Given the description of an element on the screen output the (x, y) to click on. 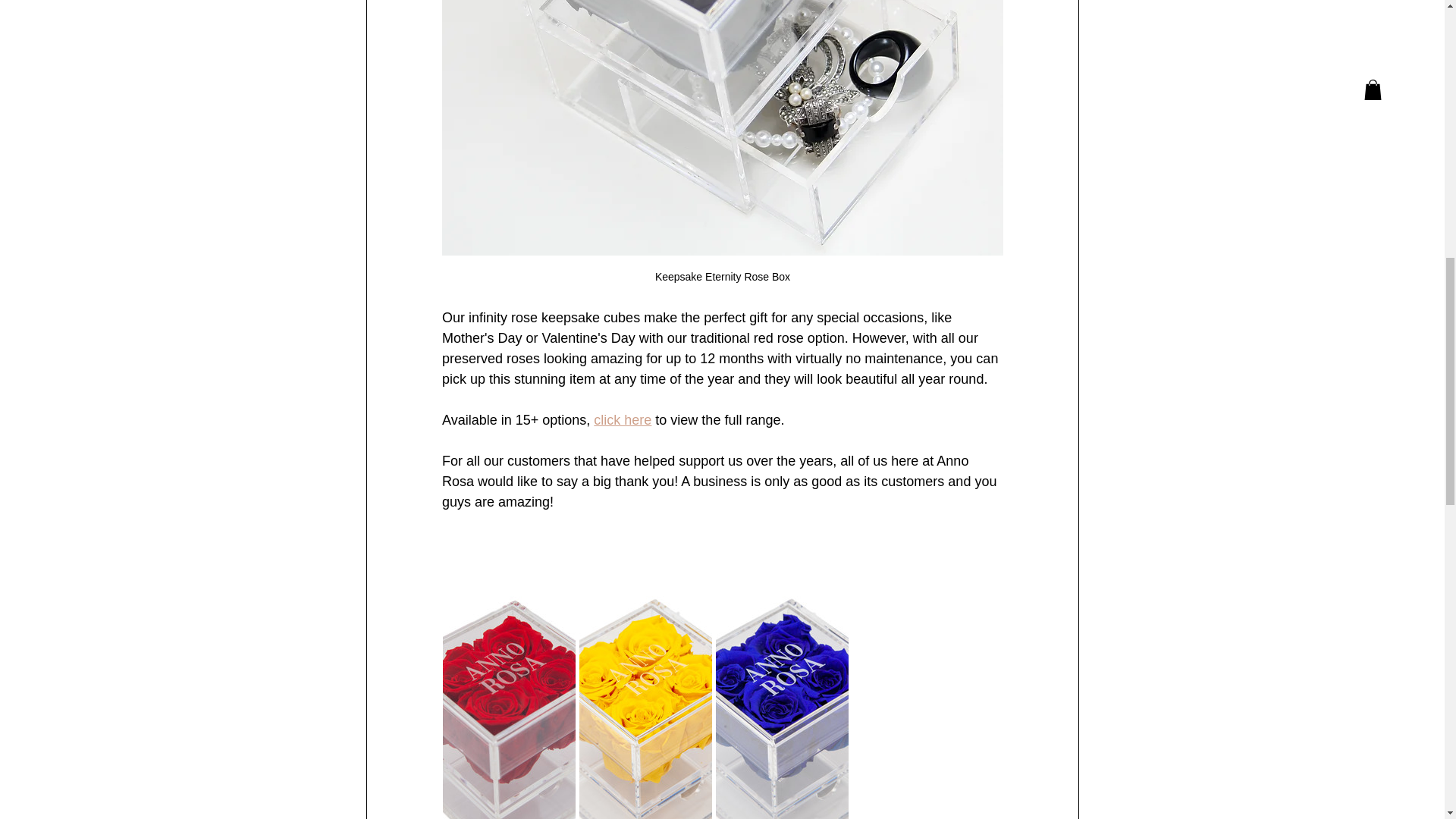
click here (622, 419)
